Given the description of an element on the screen output the (x, y) to click on. 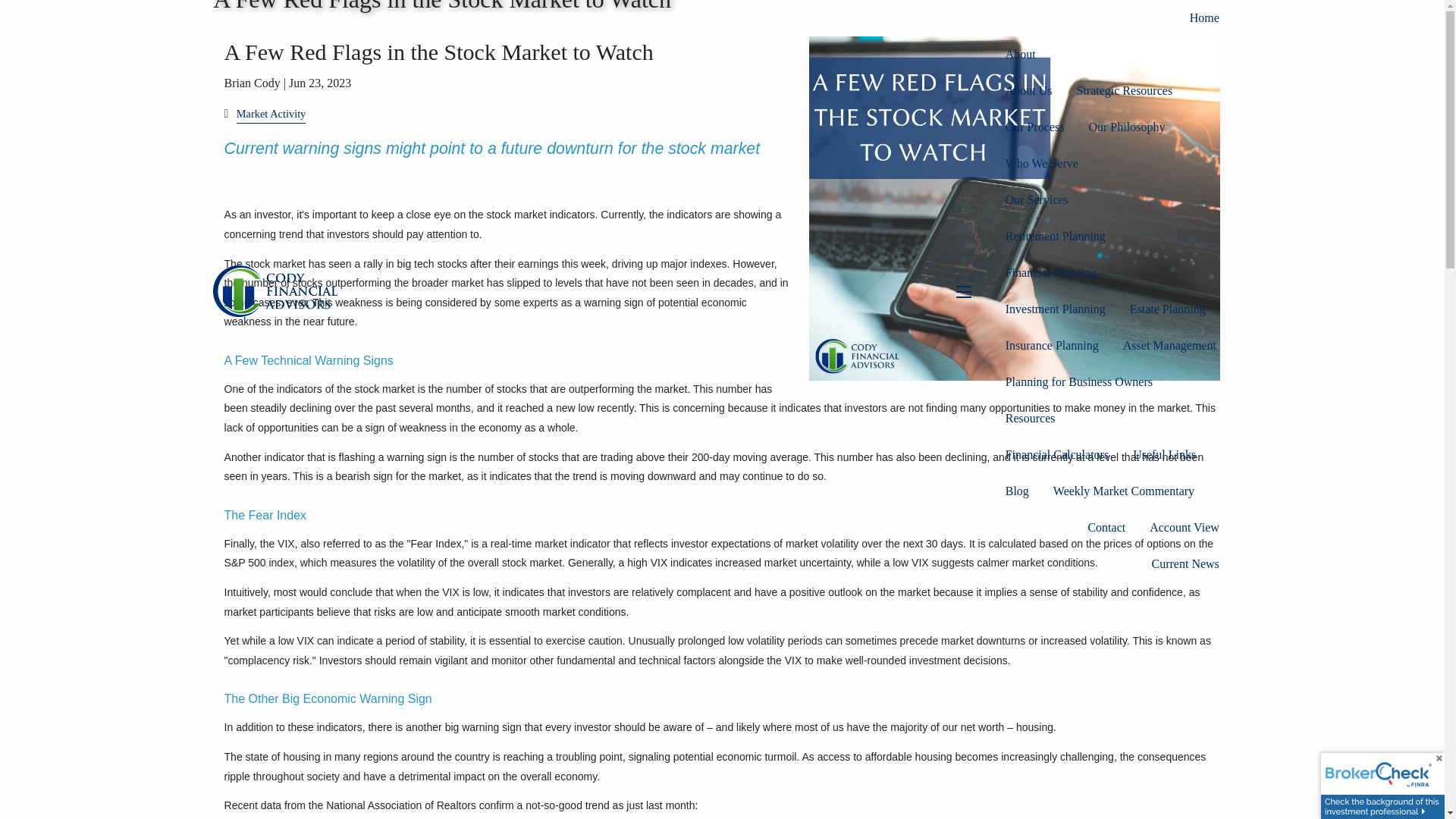
About (1111, 54)
Planning for Business Owners (1078, 381)
Asset Management (1169, 345)
Strategic Resources (1124, 90)
Our Philosophy (1125, 126)
Asset Management (1169, 345)
Our Services (1111, 199)
Our Process (1034, 126)
About Us (1028, 90)
Who We Serve (1041, 163)
